Given the description of an element on the screen output the (x, y) to click on. 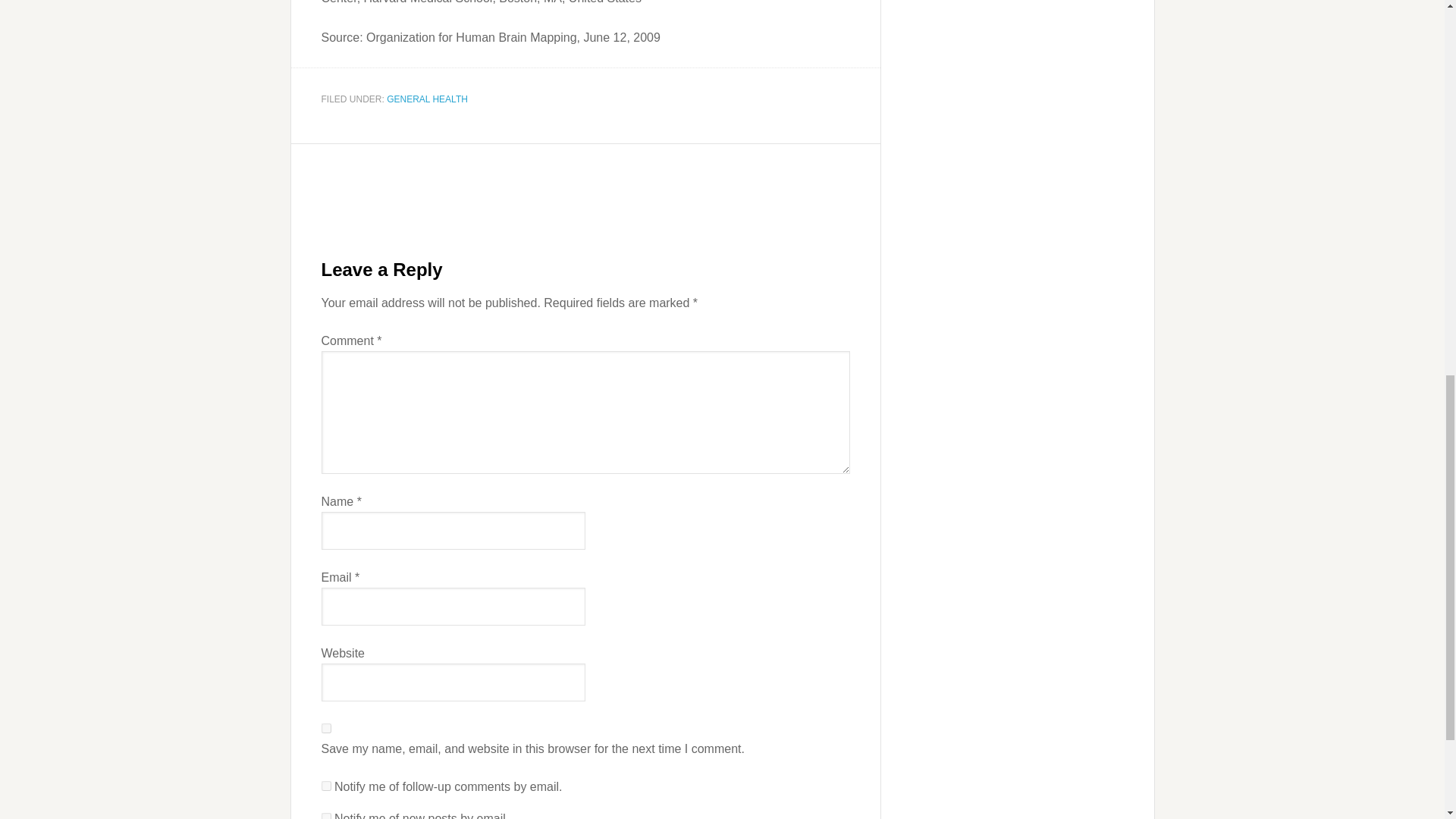
GENERAL HEALTH (427, 99)
subscribe (326, 786)
subscribe (326, 816)
yes (326, 728)
